Given the description of an element on the screen output the (x, y) to click on. 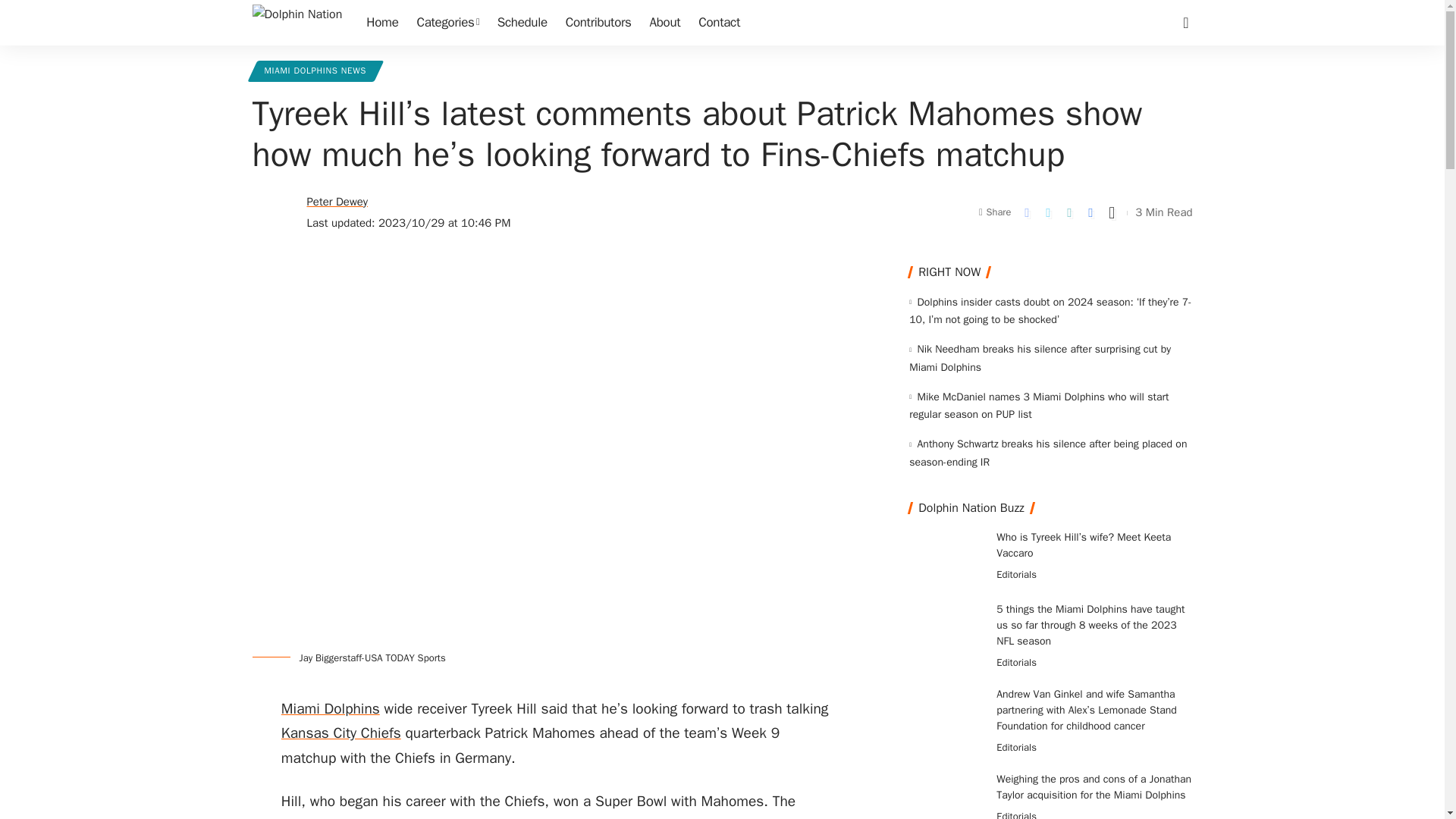
Kansas City Chiefs (341, 732)
Schedule (521, 22)
Contributors (598, 22)
Peter Dewey (336, 201)
Home (381, 22)
Categories (447, 22)
Miami Dolphins (330, 709)
Dolphin Nation (296, 22)
Contact (718, 22)
